Given the description of an element on the screen output the (x, y) to click on. 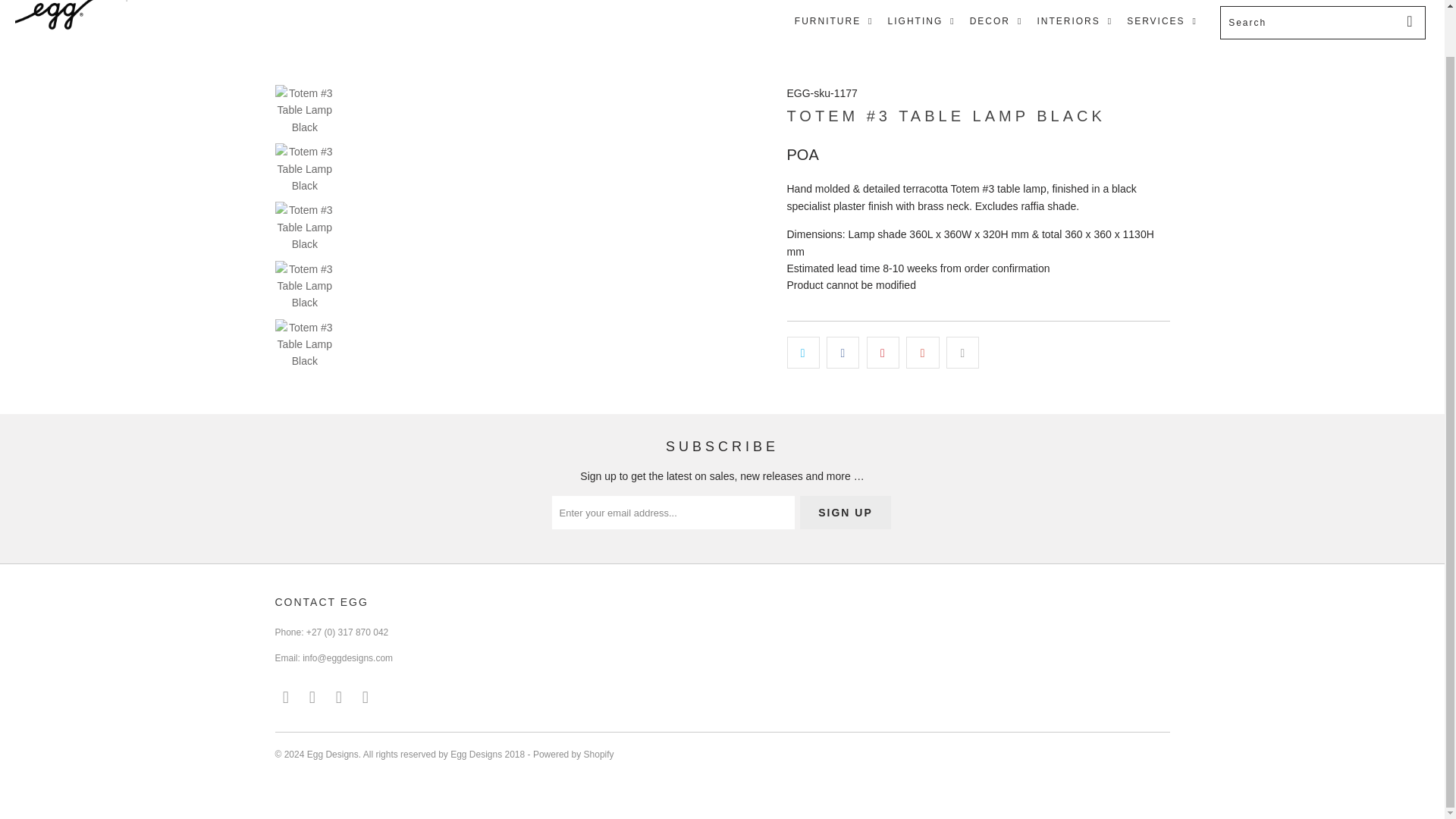
Egg Designs on Facebook (286, 697)
Email this to a friend (962, 352)
Egg Designs on Pinterest (312, 697)
Egg Designs (122, 22)
Sign Up (845, 512)
Email Egg Designs (366, 697)
Share this on Pinterest (882, 352)
Share this on Facebook (843, 352)
Egg Designs on Instagram (339, 697)
Share this on Twitter (803, 352)
